Given the description of an element on the screen output the (x, y) to click on. 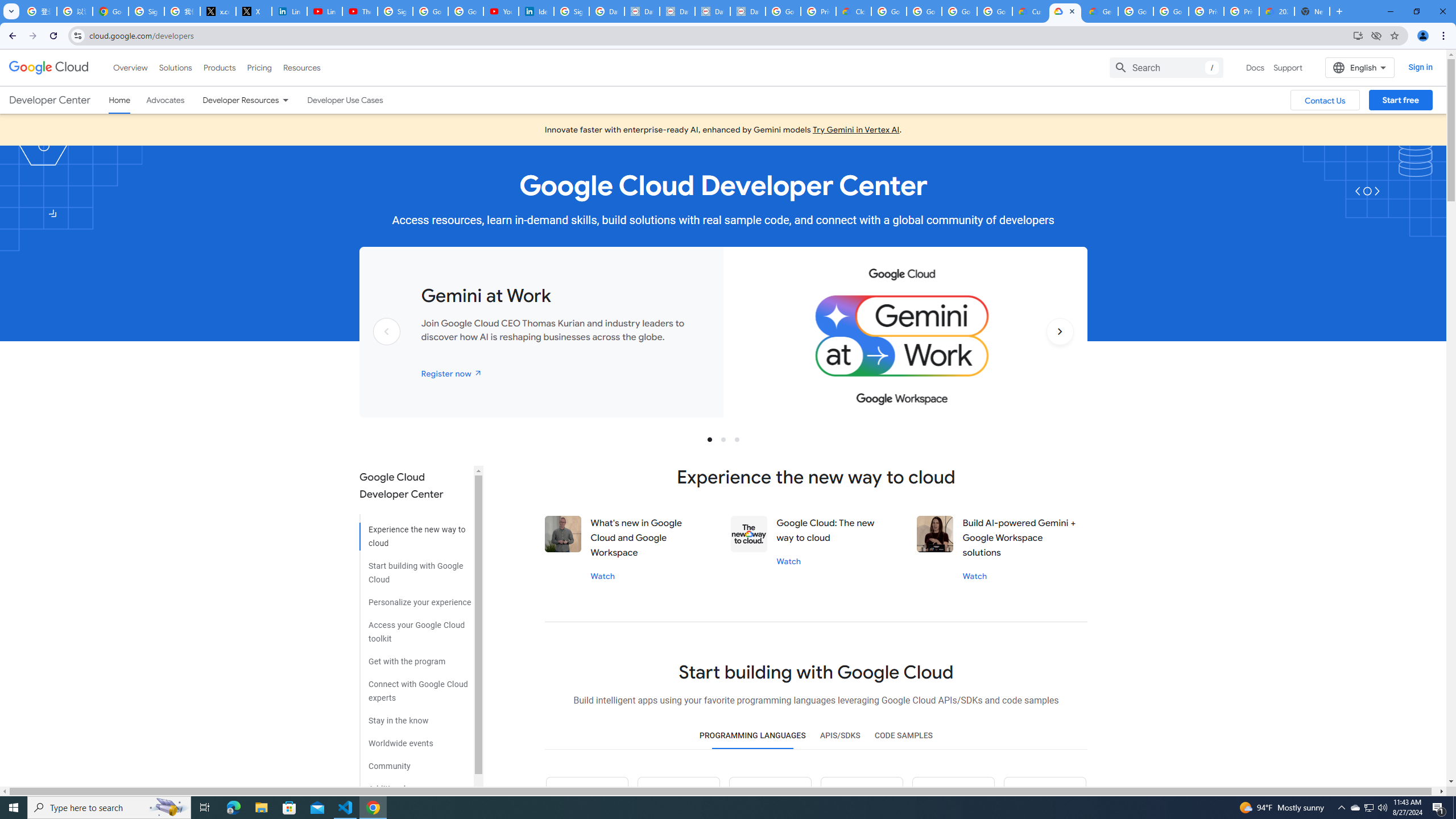
New Tab (1312, 11)
Products (218, 67)
Try Gemini in Vertex AI (855, 129)
Data Privacy Framework (641, 11)
Personalize your experience (415, 598)
Register now (451, 372)
Home, selected (119, 99)
Contact Us (1324, 100)
